Given the description of an element on the screen output the (x, y) to click on. 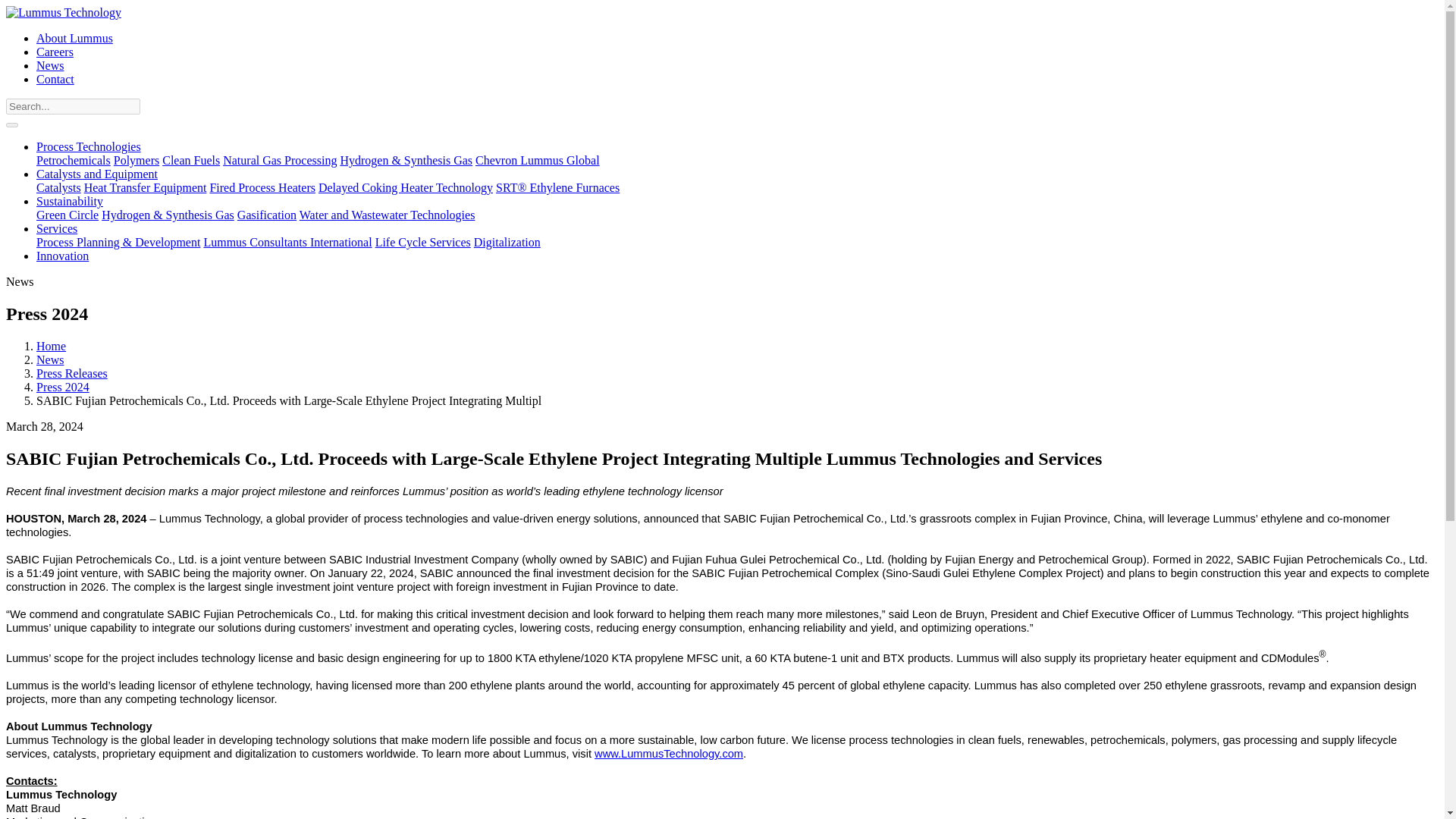
Petrochemicals (73, 160)
Contact (55, 78)
Digitalization (507, 241)
www.LummusTechnology.com (668, 753)
Careers (55, 51)
Life Cycle Services (422, 241)
Polymers (135, 160)
Home (50, 345)
Services (56, 228)
Lummus Consultants International (287, 241)
Sustainability (69, 201)
Gasification (267, 214)
News (50, 65)
Natural Gas Processing (279, 160)
Green Circle (67, 214)
